Given the description of an element on the screen output the (x, y) to click on. 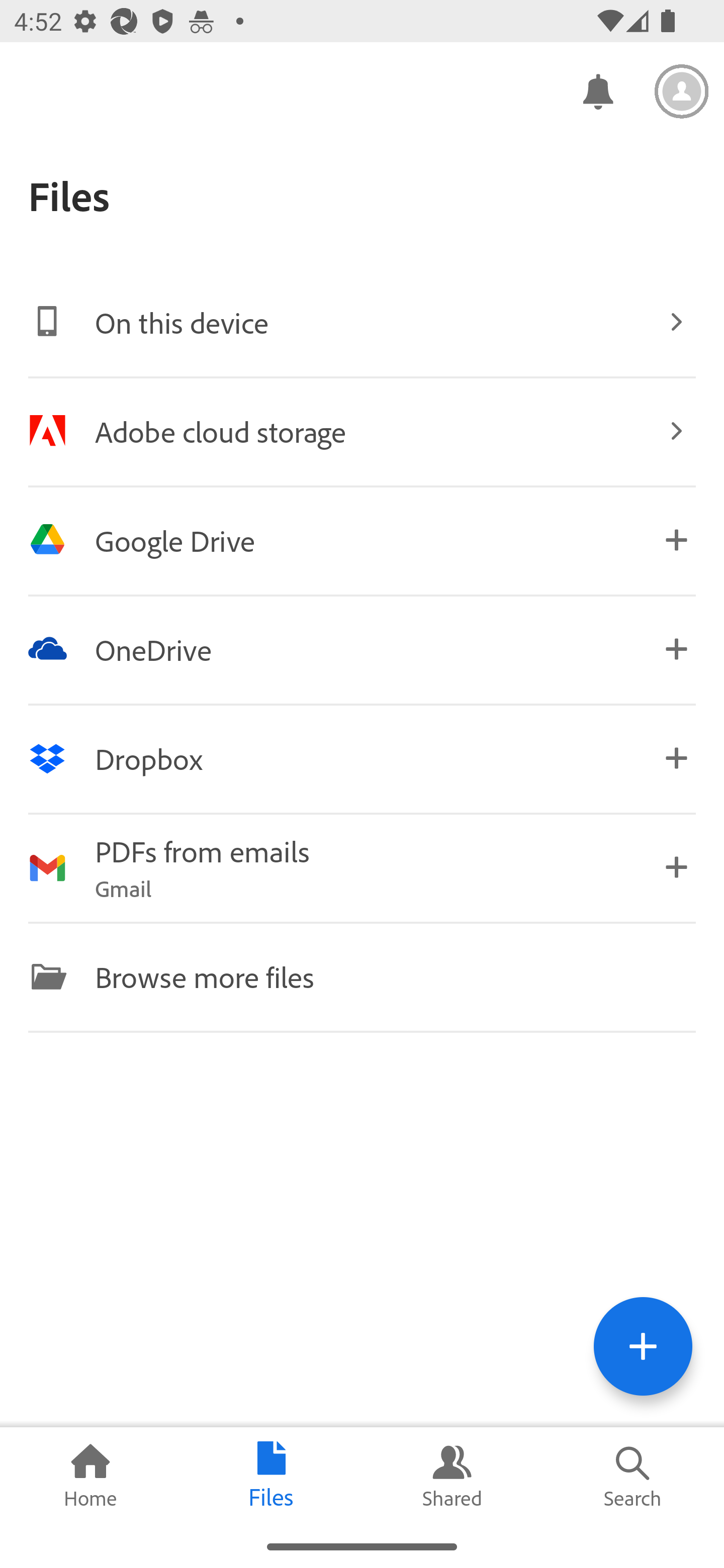
Notifications (597, 90)
Settings (681, 91)
Image On this device (362, 322)
Image Adobe cloud storage (362, 431)
Image Google Drive (362, 540)
Image OneDrive (362, 649)
Image Dropbox (362, 758)
Image PDFs from emails Gmail (362, 866)
Image Browse more files (362, 975)
Tools (642, 1345)
Home (90, 1475)
Files (271, 1475)
Shared (452, 1475)
Search (633, 1475)
